Given the description of an element on the screen output the (x, y) to click on. 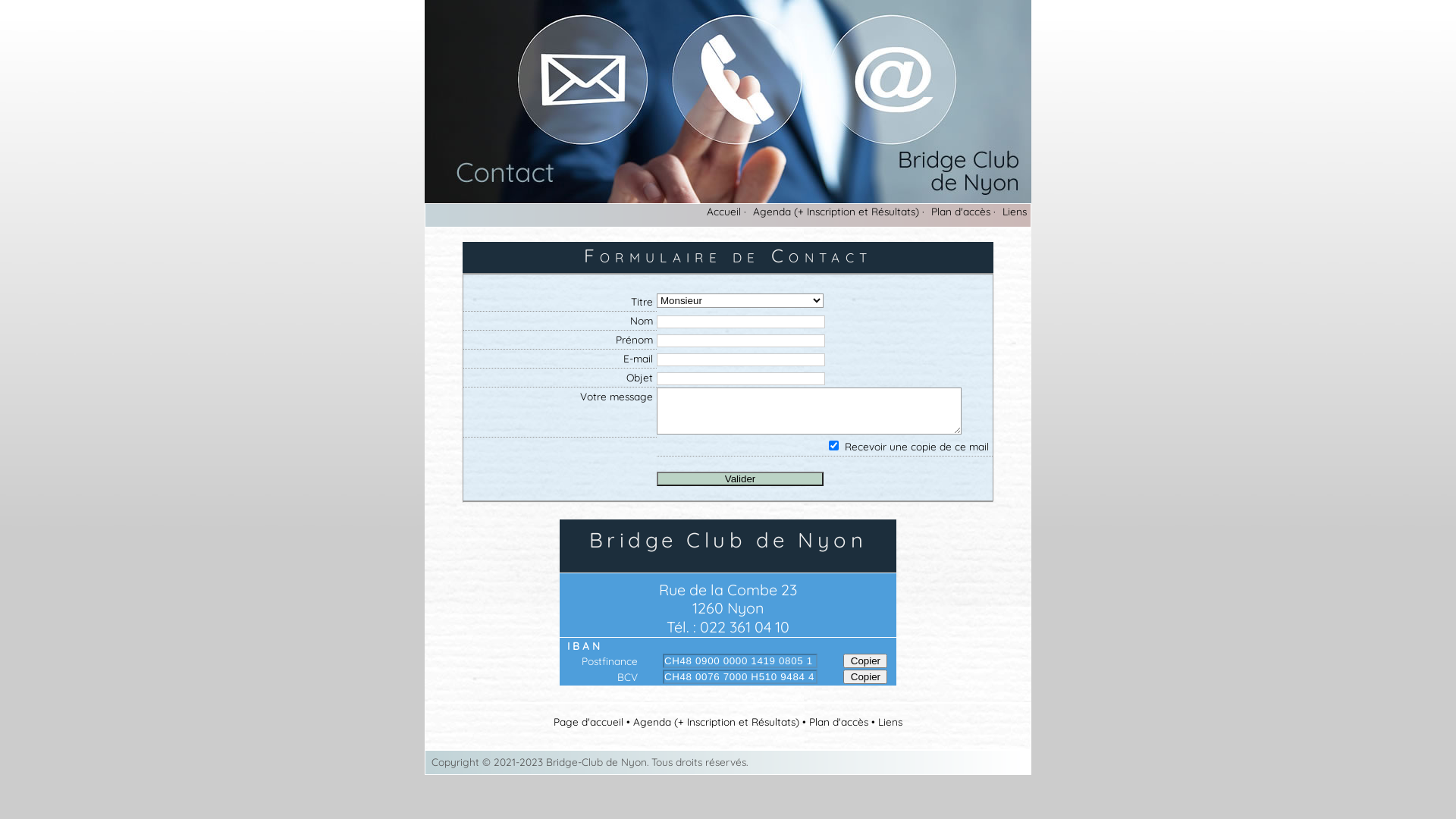
  Copier   Element type: text (865, 660)
Liens Element type: text (1014, 210)
Valider Element type: text (739, 478)
Page d'accueil Element type: text (588, 721)
Liens Element type: text (890, 721)
  Copier   Element type: text (865, 676)
Accueil Element type: text (723, 210)
